Given the description of an element on the screen output the (x, y) to click on. 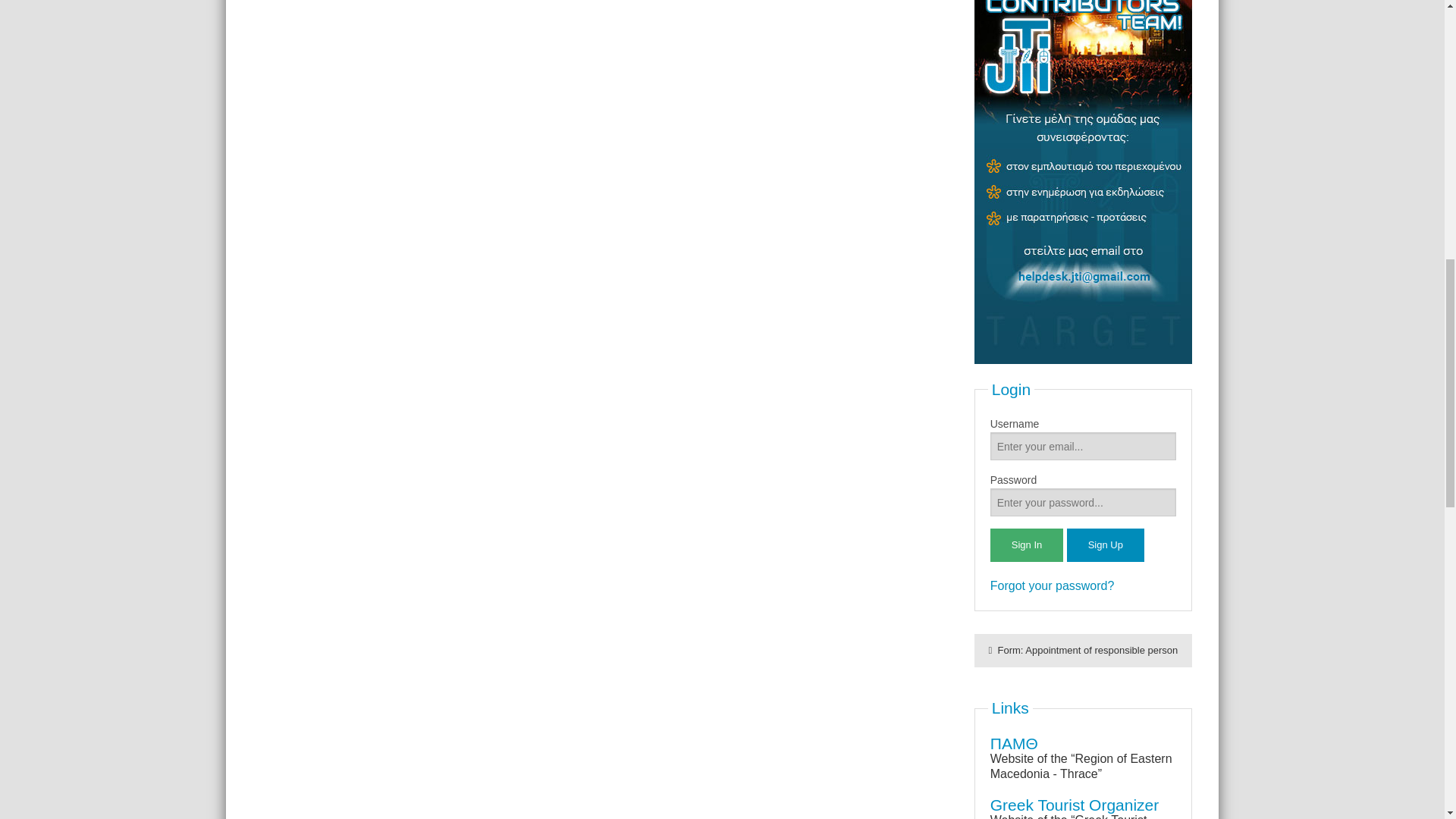
JTI Contribute Team (1083, 238)
Form: Appointment of responsible person (1083, 650)
